Given the description of an element on the screen output the (x, y) to click on. 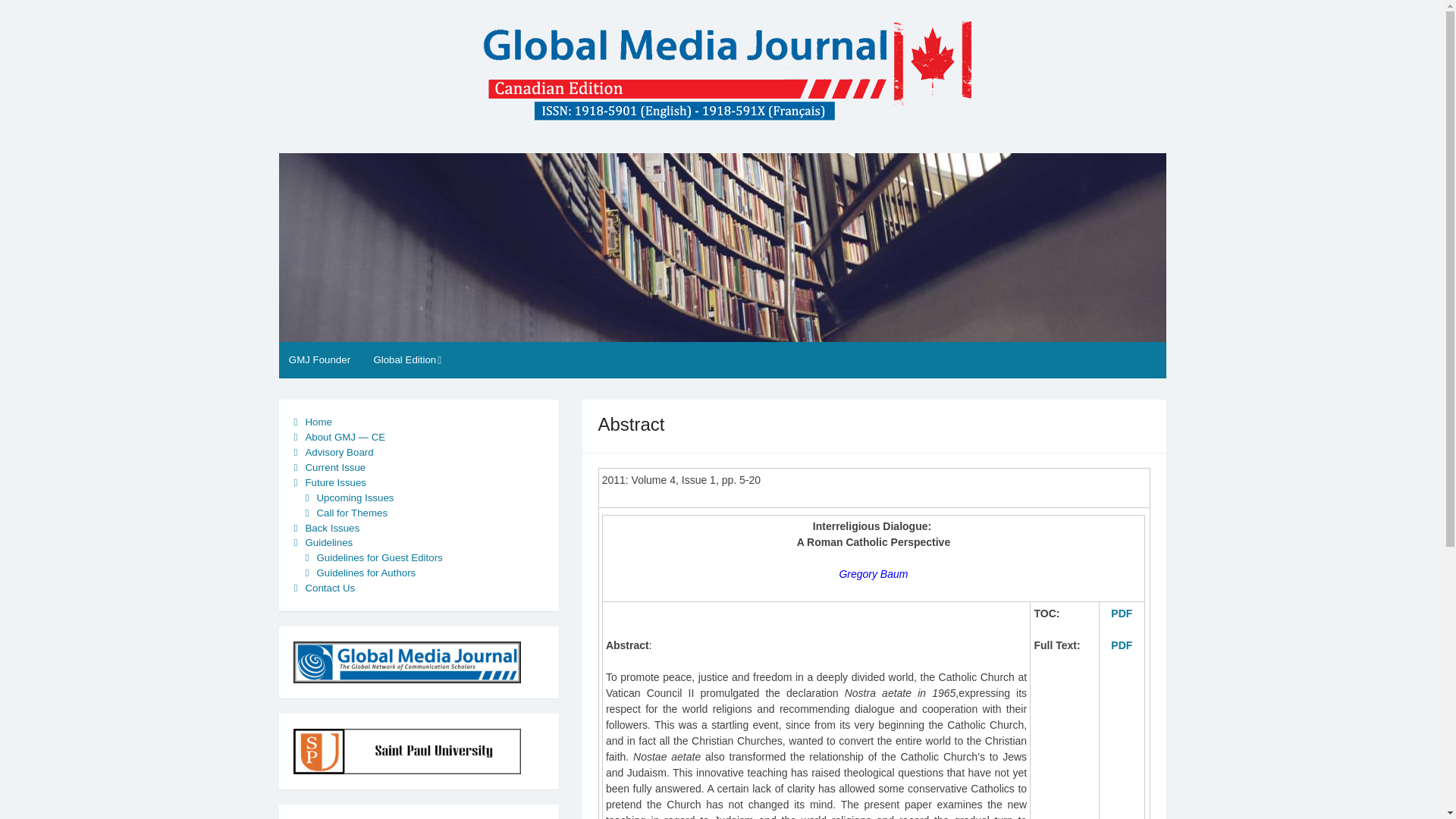
Call for Themes (351, 512)
Home (317, 421)
Contact Us (329, 587)
Upcoming Issues (354, 497)
Future Issues (335, 482)
GMJ Founder (320, 360)
Advisory Board (338, 451)
Global Media Journal (386, 144)
Global Edition (405, 360)
Guidelines for Authors (364, 572)
Guidelines for Guest Editors (378, 557)
PDF (1121, 644)
Guidelines (328, 542)
Current Issue (334, 467)
Back Issues (331, 527)
